Given the description of an element on the screen output the (x, y) to click on. 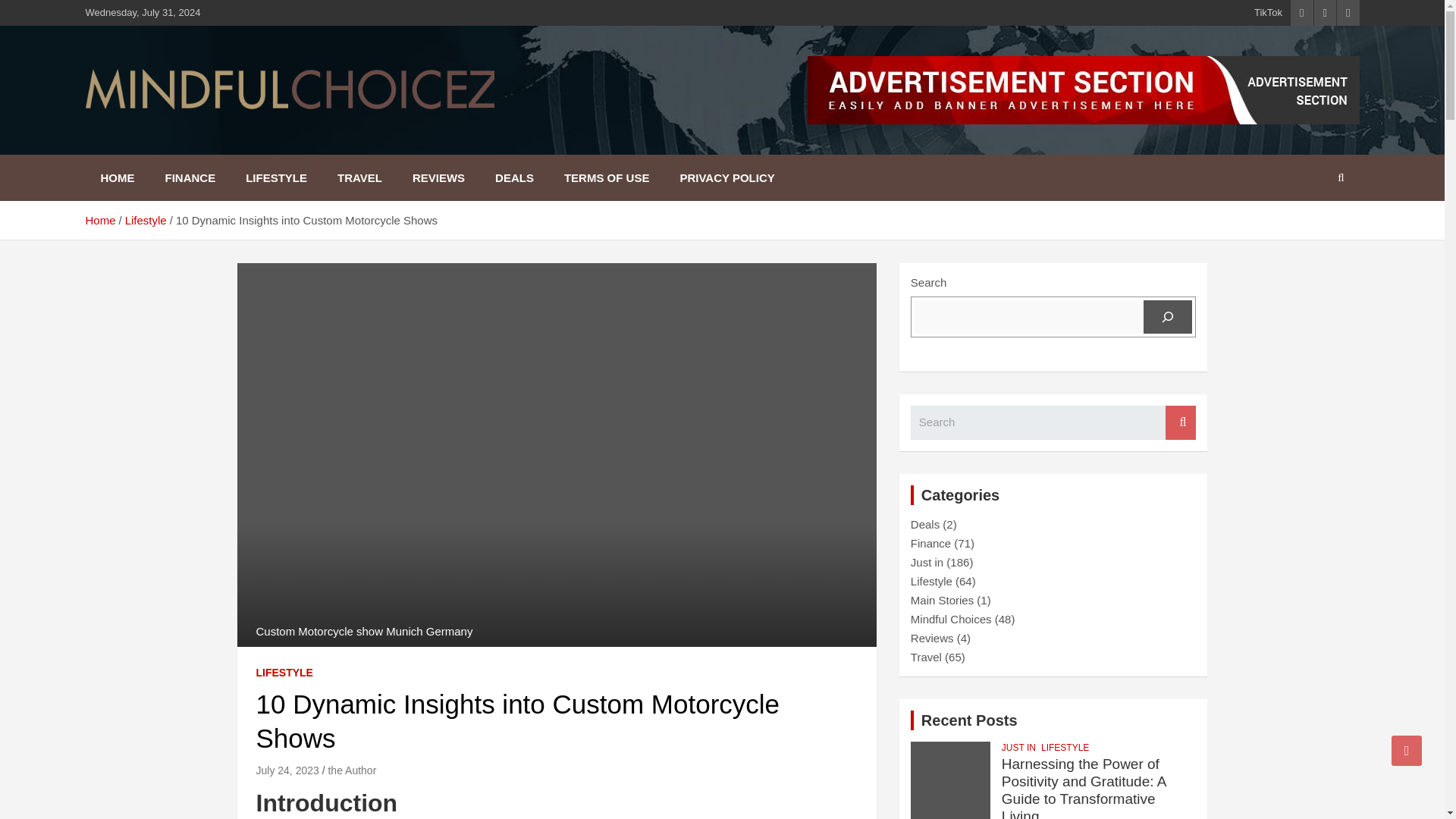
TikTok (1267, 12)
FINANCE (190, 177)
DEALS (514, 177)
TRAVEL (359, 177)
MindfulChoicez (196, 131)
Lifestyle (146, 219)
REVIEWS (438, 177)
TERMS OF USE (606, 177)
LIFESTYLE (284, 672)
PRIVACY POLICY (726, 177)
LIFESTYLE (275, 177)
HOME (116, 177)
July 24, 2023 (287, 770)
10 Dynamic Insights into Custom Motorcycle Shows (287, 770)
Home (99, 219)
